Given the description of an element on the screen output the (x, y) to click on. 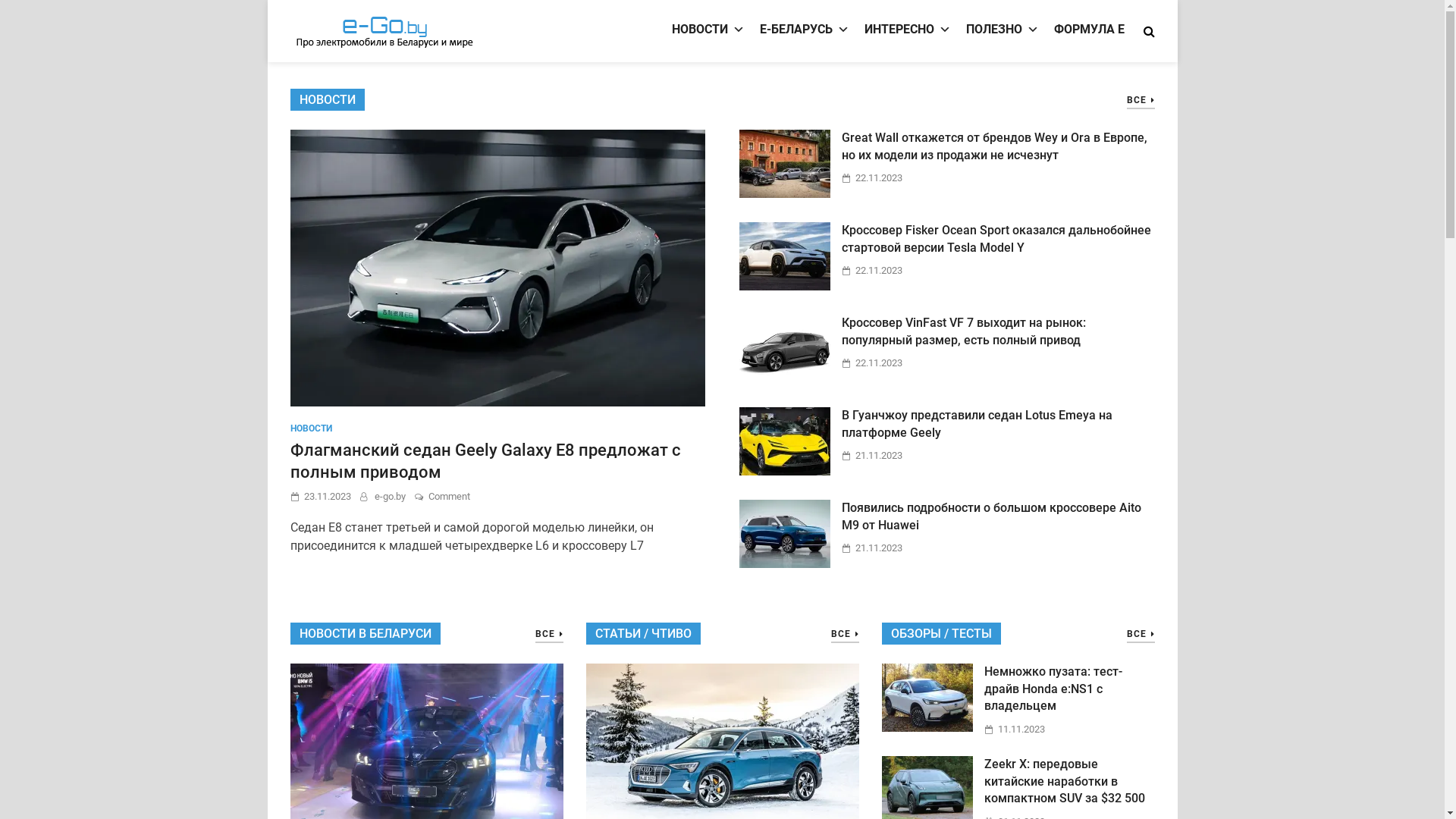
22.11.2023 Element type: text (878, 270)
11.11.2023 Element type: text (1020, 728)
21.11.2023 Element type: text (878, 547)
22.11.2023 Element type: text (878, 362)
23.11.2023 Element type: text (326, 496)
21.11.2023 Element type: text (878, 455)
22.11.2023 Element type: text (878, 177)
e-go.by Element type: text (389, 496)
